Given the description of an element on the screen output the (x, y) to click on. 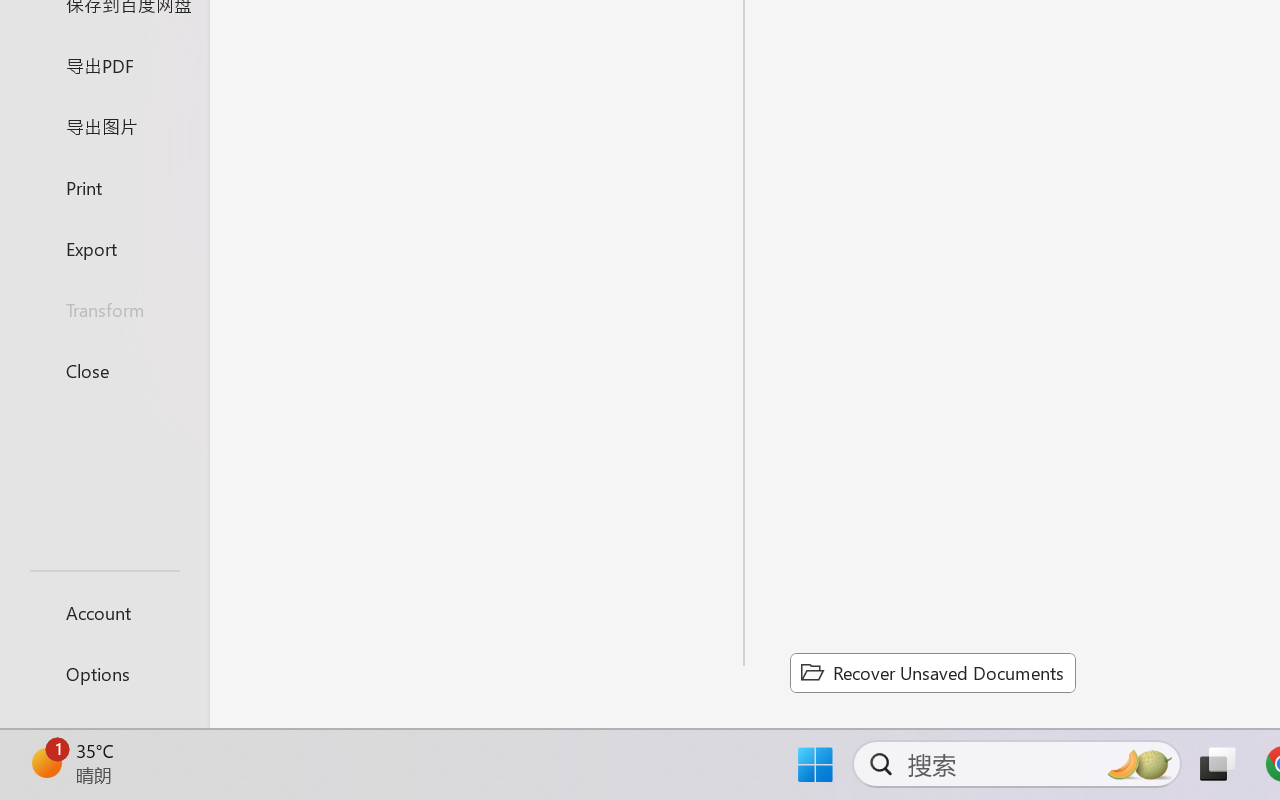
Account (104, 612)
Print (104, 186)
Options (104, 673)
Transform (104, 309)
Export (104, 248)
Recover Unsaved Documents (932, 672)
